Given the description of an element on the screen output the (x, y) to click on. 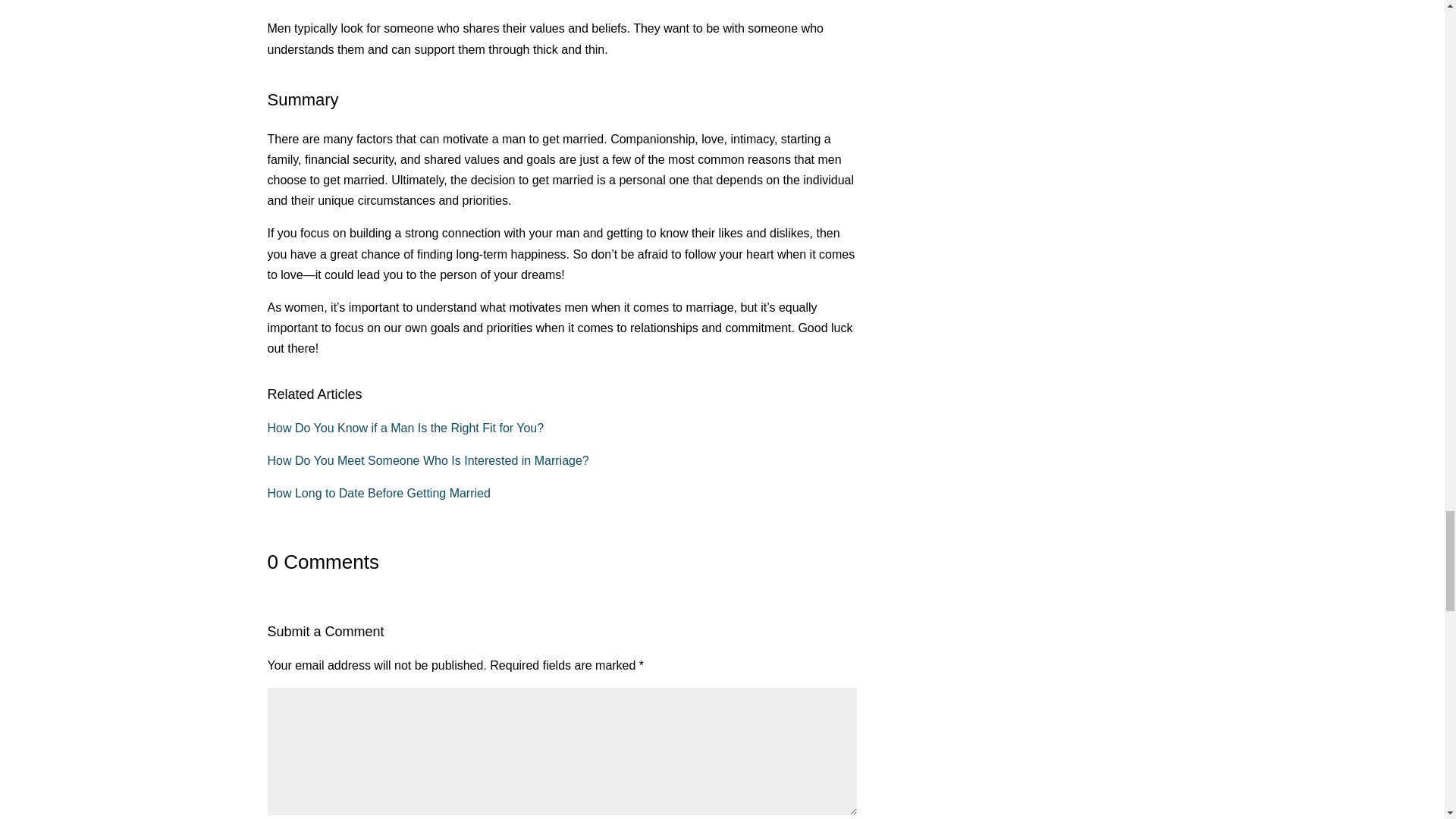
How Do You Know if a Man Is the Right Fit for You? (404, 427)
How Do You Meet Someone Who Is Interested in Marriage? (427, 460)
How Long to Date Before Getting Married (377, 492)
